Given the description of an element on the screen output the (x, y) to click on. 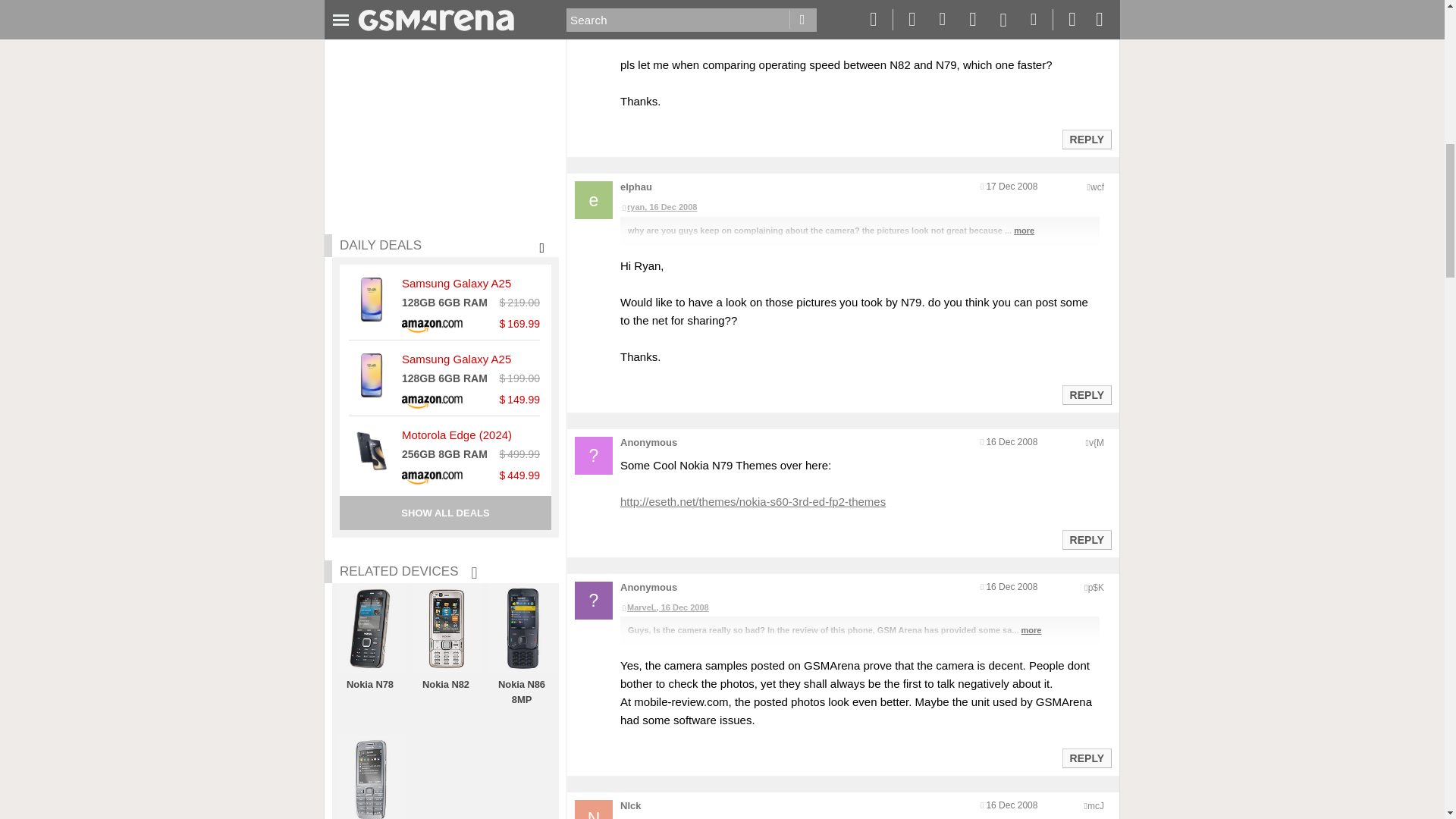
Reply to this post (1086, 139)
Encoded anonymized location (1095, 587)
Encoded anonymized location (1096, 186)
Encoded anonymized location (1096, 442)
Encoded anonymized location (1095, 805)
Reply to this post (1086, 539)
Reply to this post (1086, 758)
Reply to this post (1086, 395)
